Given the description of an element on the screen output the (x, y) to click on. 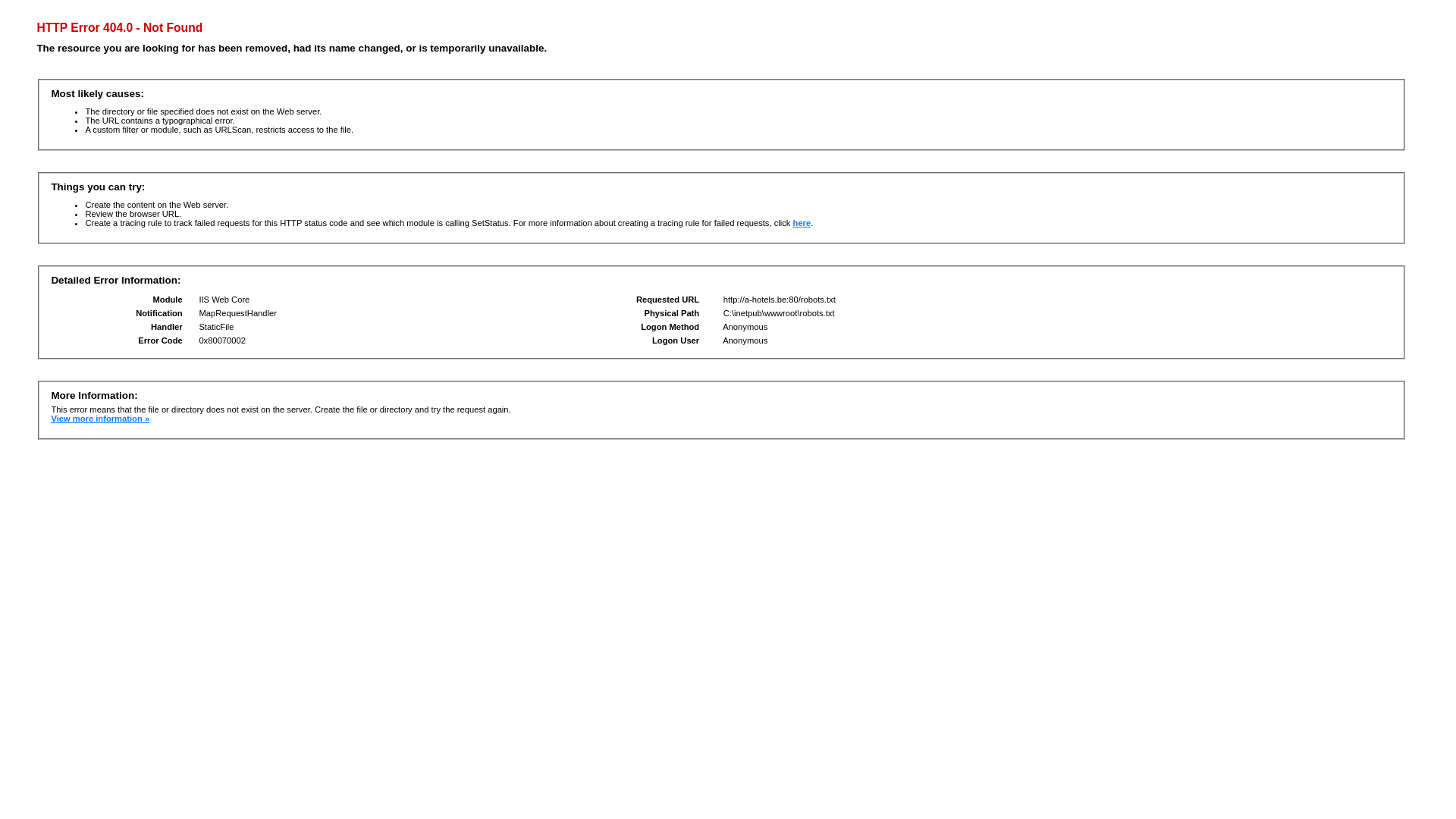
here Element type: text (802, 222)
